Given the description of an element on the screen output the (x, y) to click on. 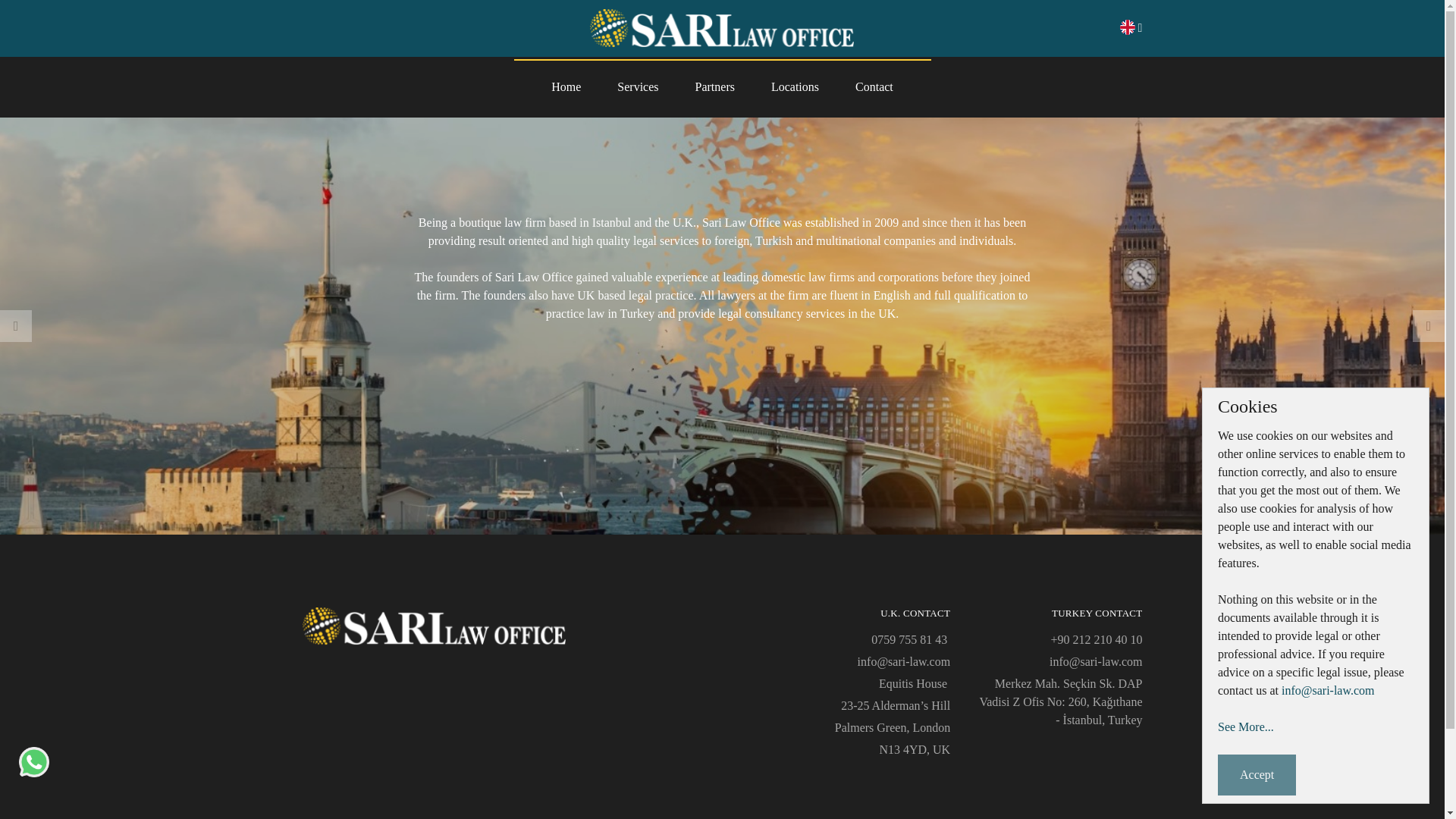
Services (637, 86)
0759 755 81 43  (910, 639)
See More... (1245, 726)
Contact (874, 86)
Locations (794, 86)
Partners (713, 86)
Accept (1256, 774)
Home (565, 86)
